Given the description of an element on the screen output the (x, y) to click on. 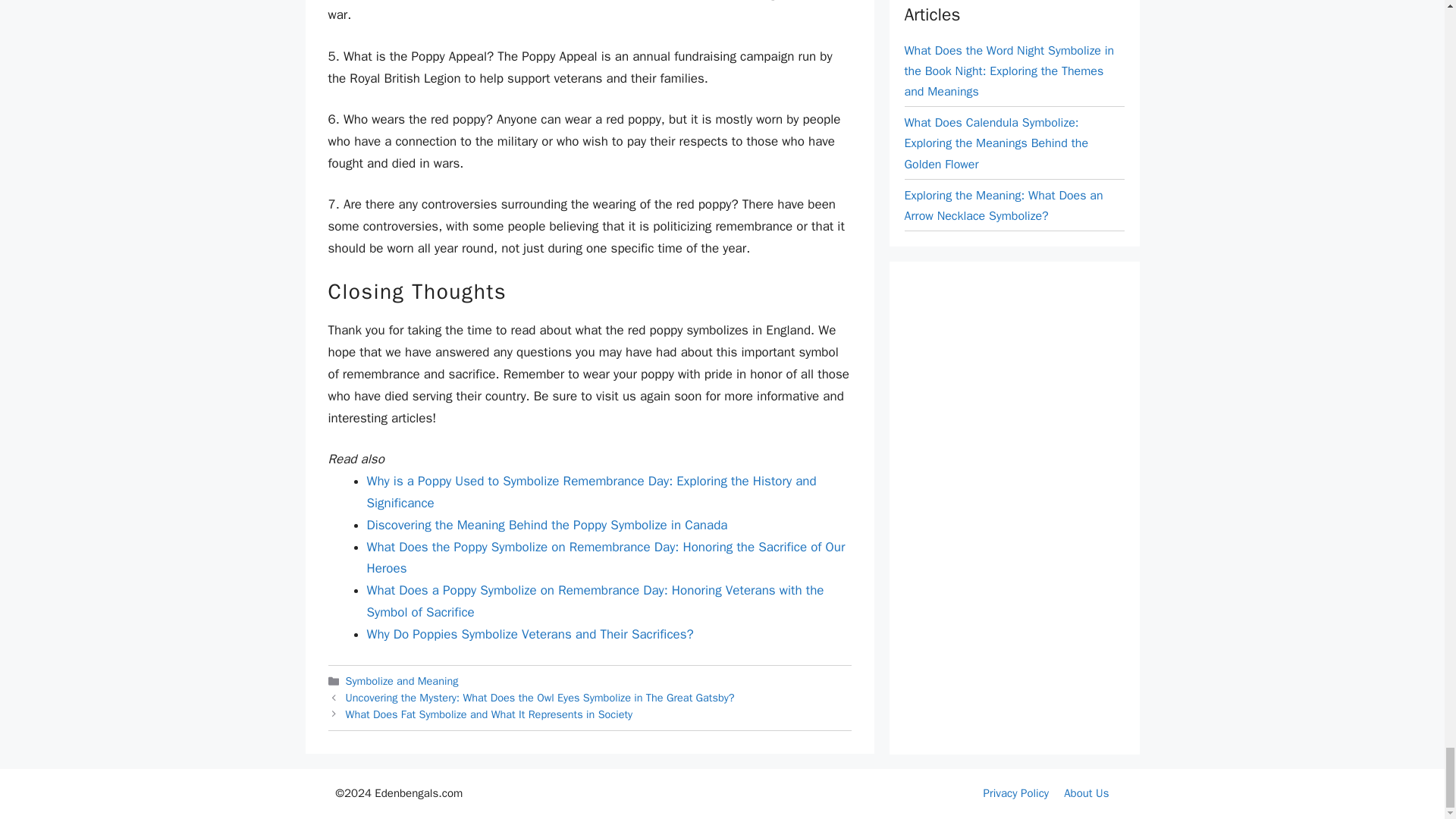
Discovering the Meaning Behind the Poppy Symbolize in Canada (547, 524)
Symbolize and Meaning (402, 680)
Why Do Poppies Symbolize Veterans and Their Sacrifices? (530, 634)
Privacy Policy (1016, 793)
What Does Fat Symbolize and What It Represents in Society (489, 714)
About Us (1086, 793)
